Given the description of an element on the screen output the (x, y) to click on. 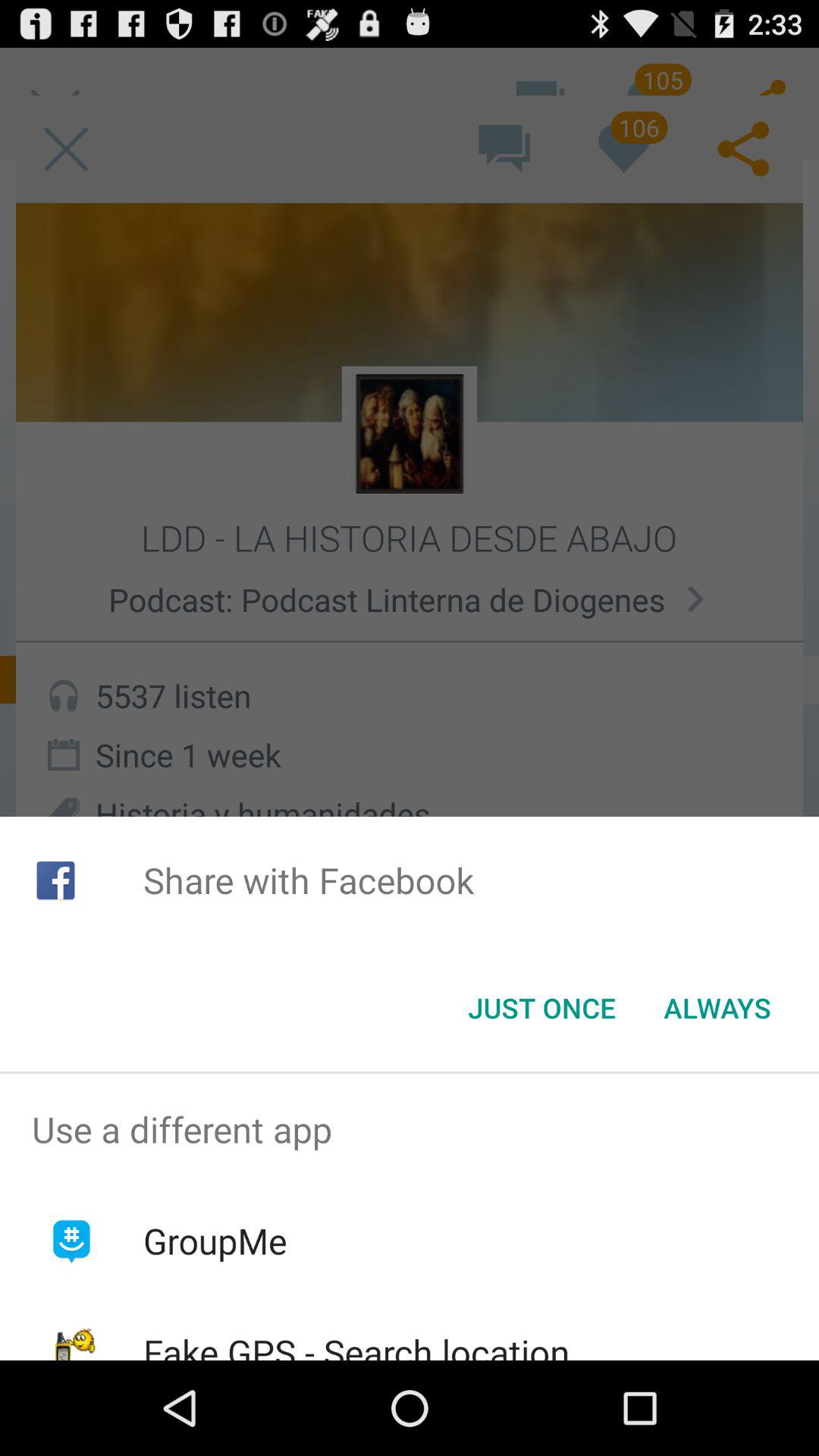
turn on the app below share with facebook icon (541, 1007)
